Given the description of an element on the screen output the (x, y) to click on. 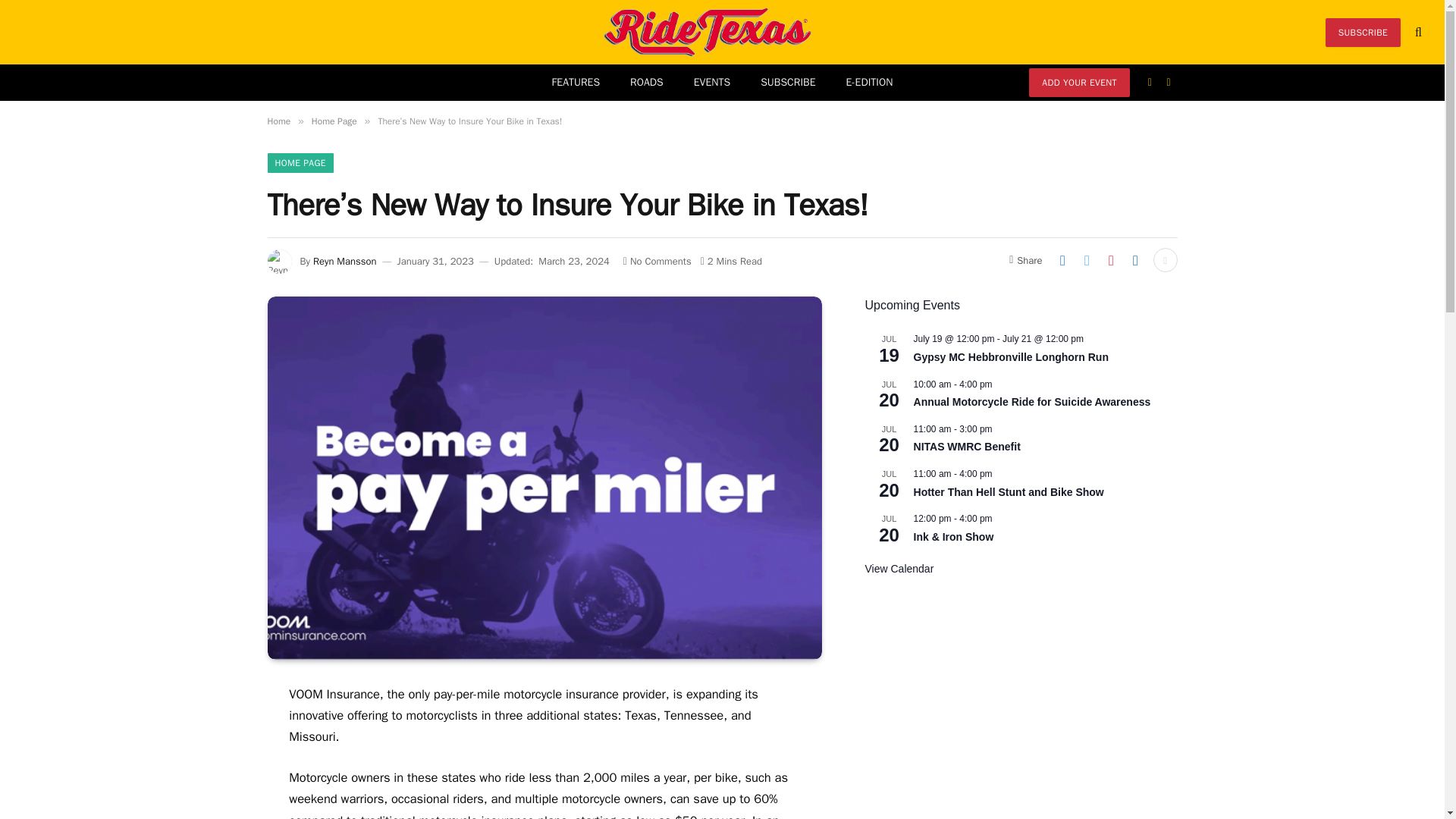
ROADS (646, 82)
Posts by Reyn Mansson (345, 260)
Instagram (1168, 82)
EVENTS (711, 82)
Search (1417, 32)
SUBSCRIBE (787, 82)
Share on Facebook (1062, 259)
Reyn Mansson (345, 260)
Share on Pinterest (1110, 259)
No Comments (657, 260)
Show More Social Sharing (1164, 259)
SUBSCRIBE (1362, 32)
Share on LinkedIn (1135, 259)
HOME PAGE (299, 162)
Home (277, 121)
